Given the description of an element on the screen output the (x, y) to click on. 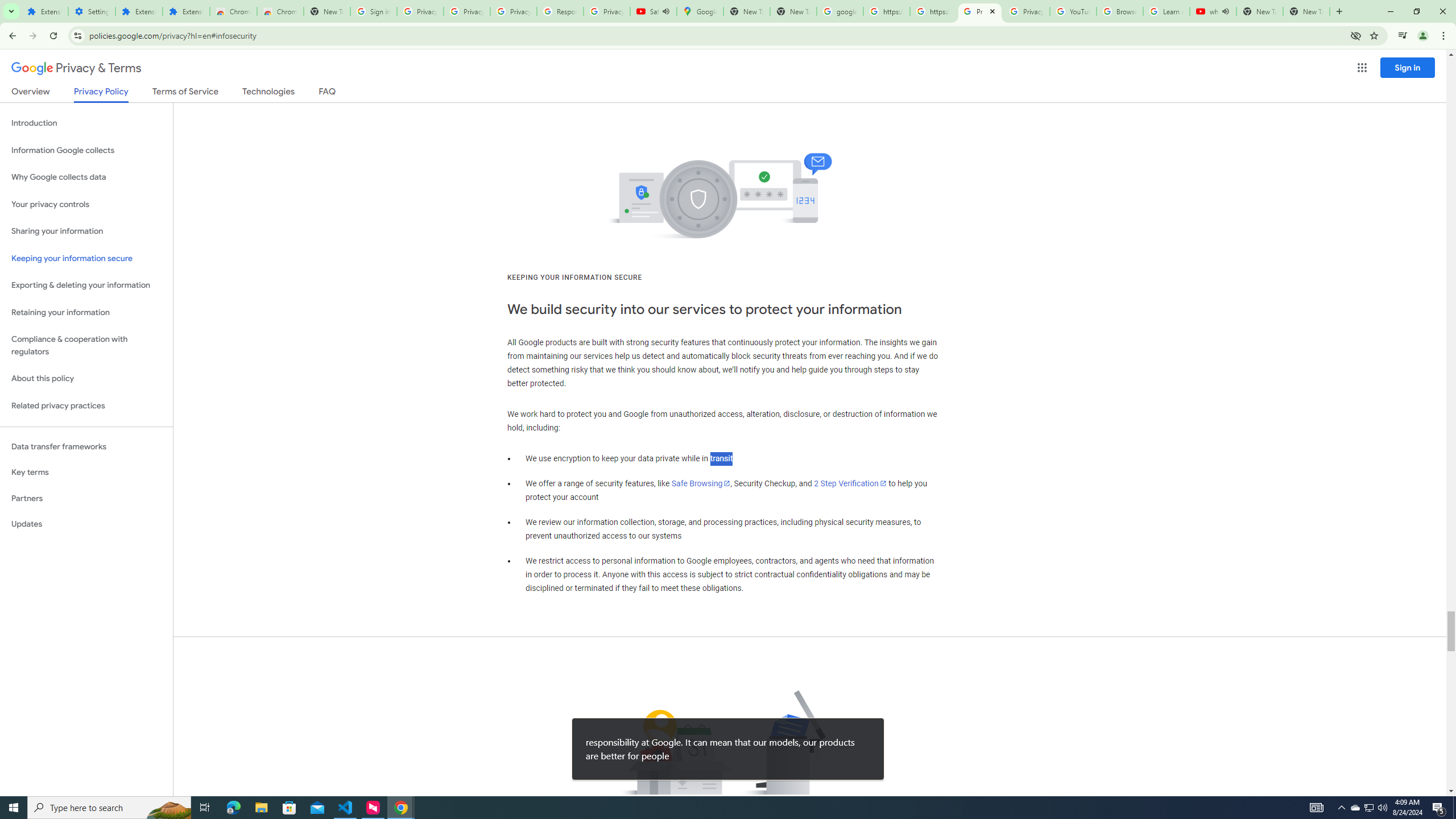
Retaining your information (86, 312)
Sign in - Google Accounts (373, 11)
Extensions (44, 11)
New Tab (1306, 11)
Information Google collects (86, 150)
